Given the description of an element on the screen output the (x, y) to click on. 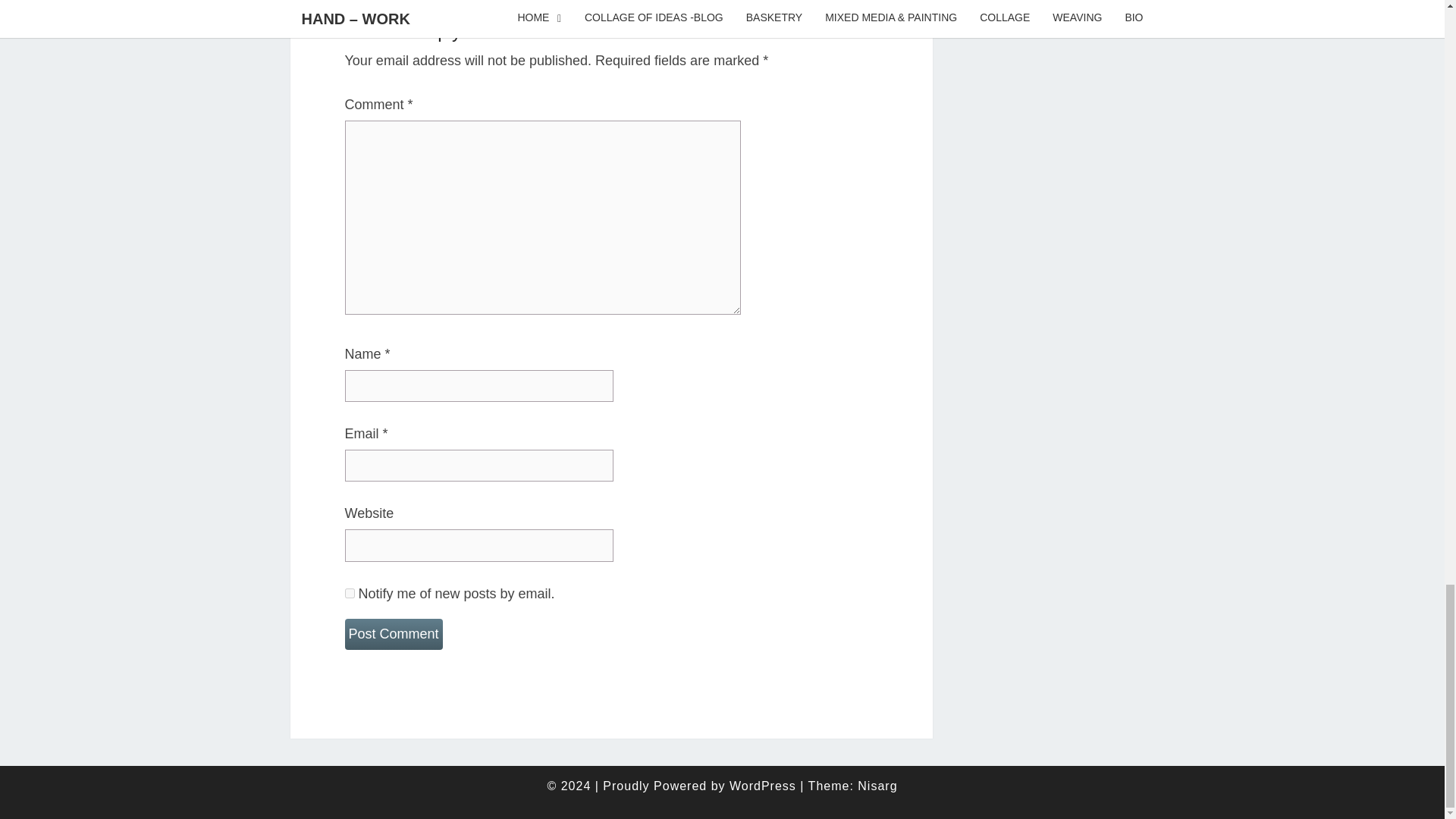
Post Comment (392, 634)
subscribe (348, 593)
Post Comment (392, 634)
Nisarg (876, 785)
WordPress (762, 785)
